Given the description of an element on the screen output the (x, y) to click on. 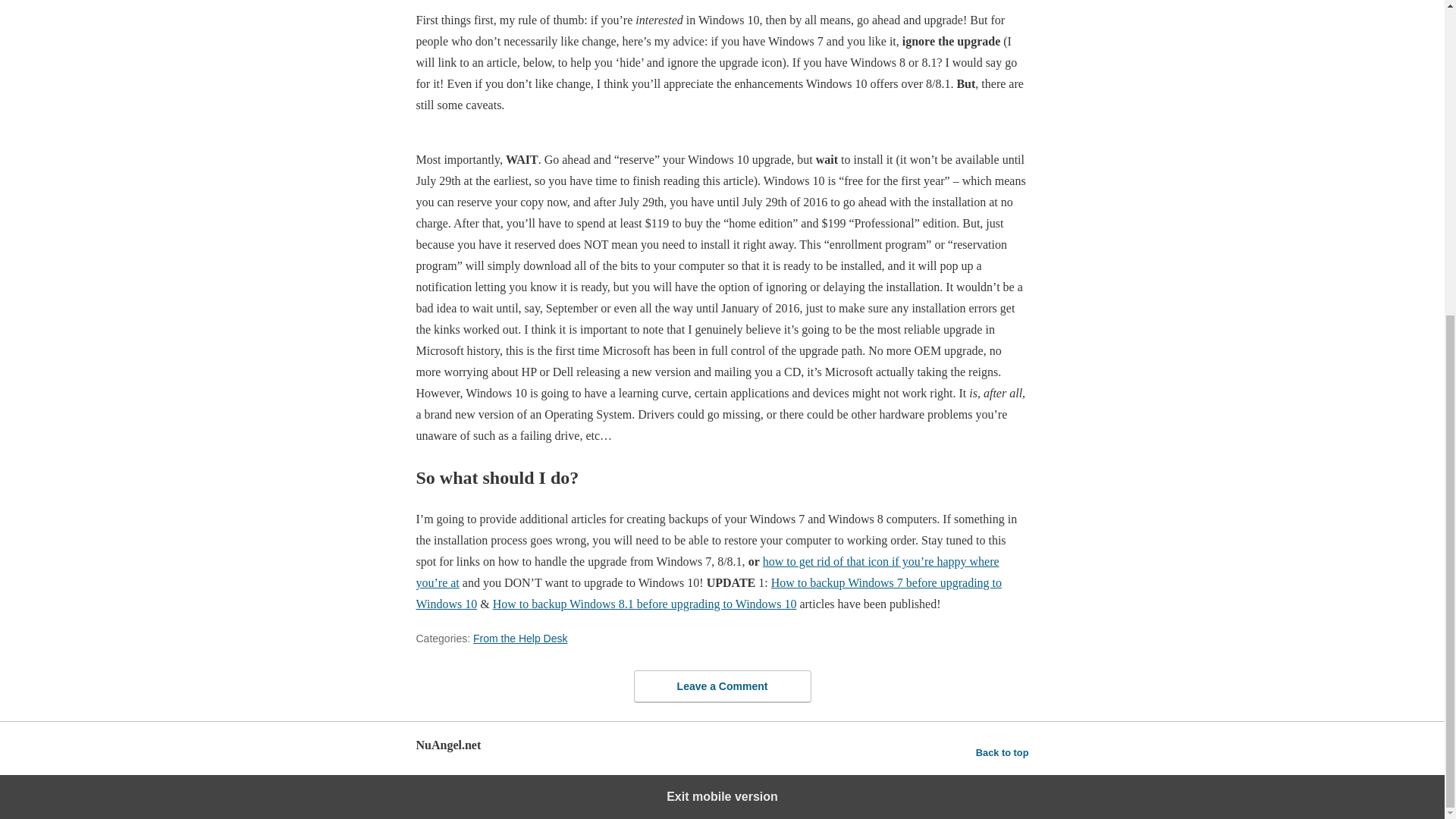
Leave a Comment (721, 686)
How to backup Windows 7 before upgrading to Windows 10 (707, 593)
From the Help Desk (520, 638)
How to backup Windows 8.1 before upgrading to Windows 10 (644, 603)
Back to top (1002, 752)
